Given the description of an element on the screen output the (x, y) to click on. 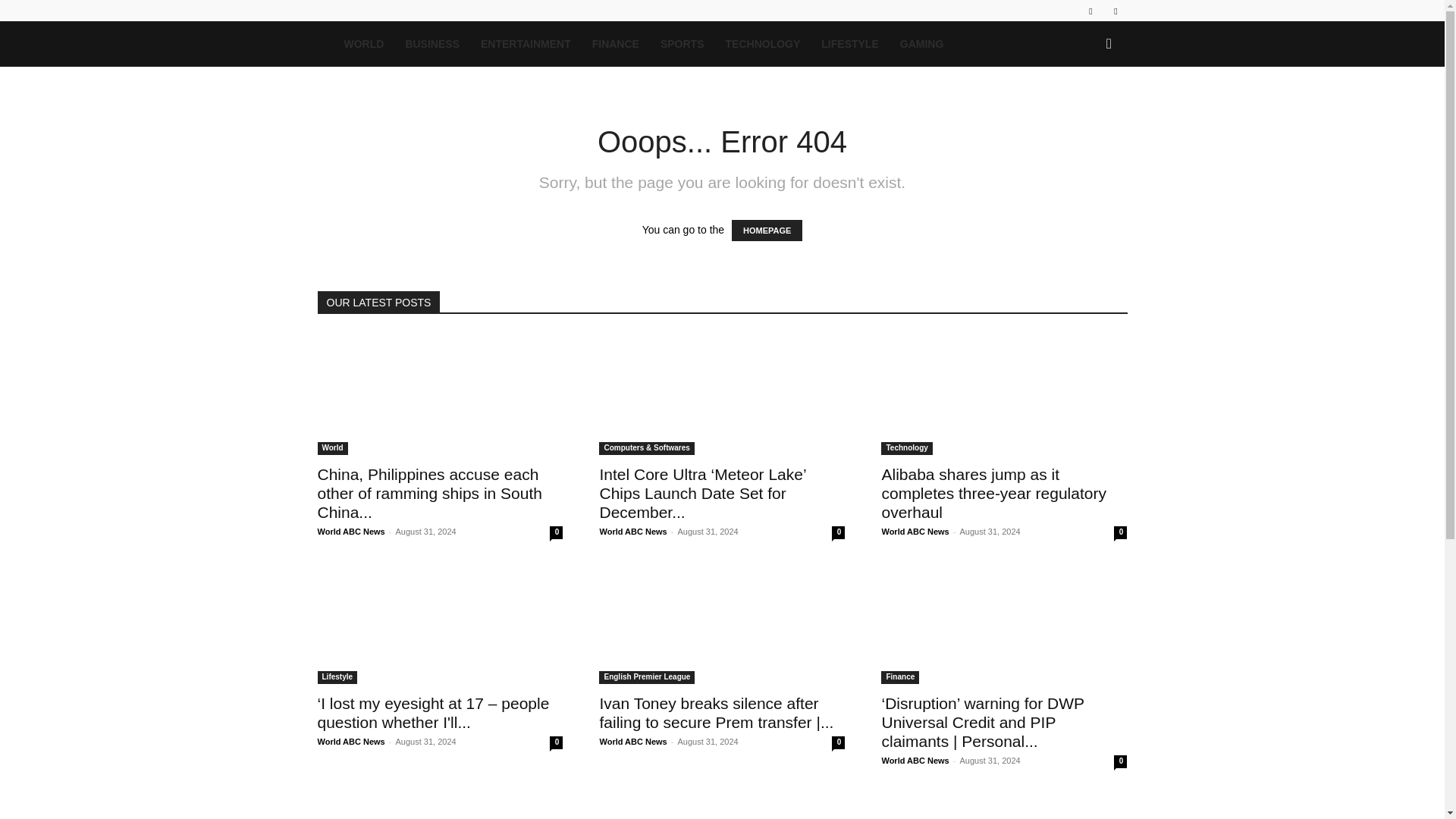
World ABC News (632, 531)
BUSINESS (432, 43)
ENTERTAINMENT (525, 43)
0 (837, 532)
Twitter (1114, 10)
Facebook (1090, 10)
SPORTS (681, 43)
World ABC News (350, 531)
